Given the description of an element on the screen output the (x, y) to click on. 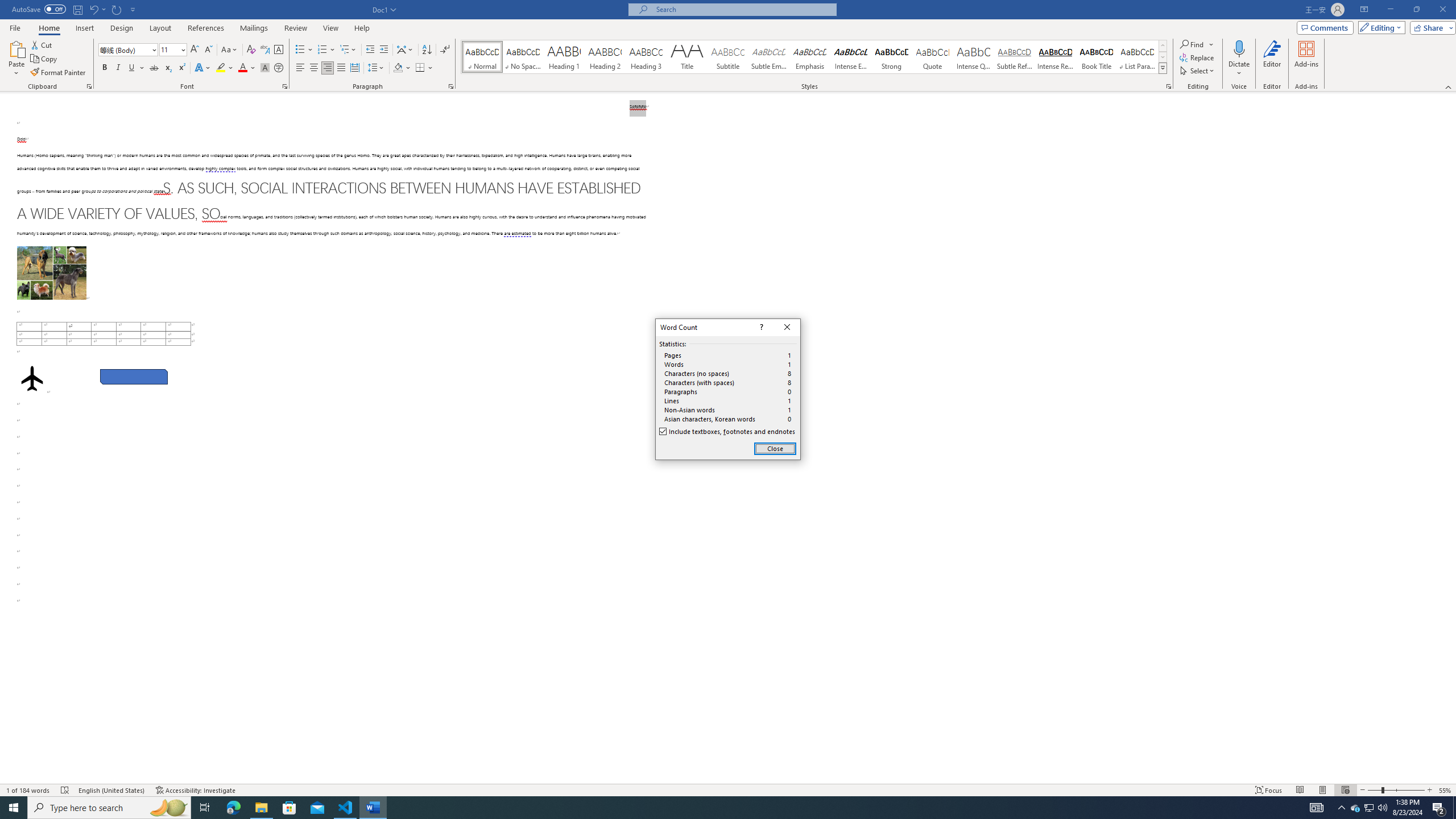
Intense Quote (973, 56)
Include textboxes, footnotes and endnotes (727, 431)
Emphasis (809, 56)
Editing (1379, 27)
